Given the description of an element on the screen output the (x, y) to click on. 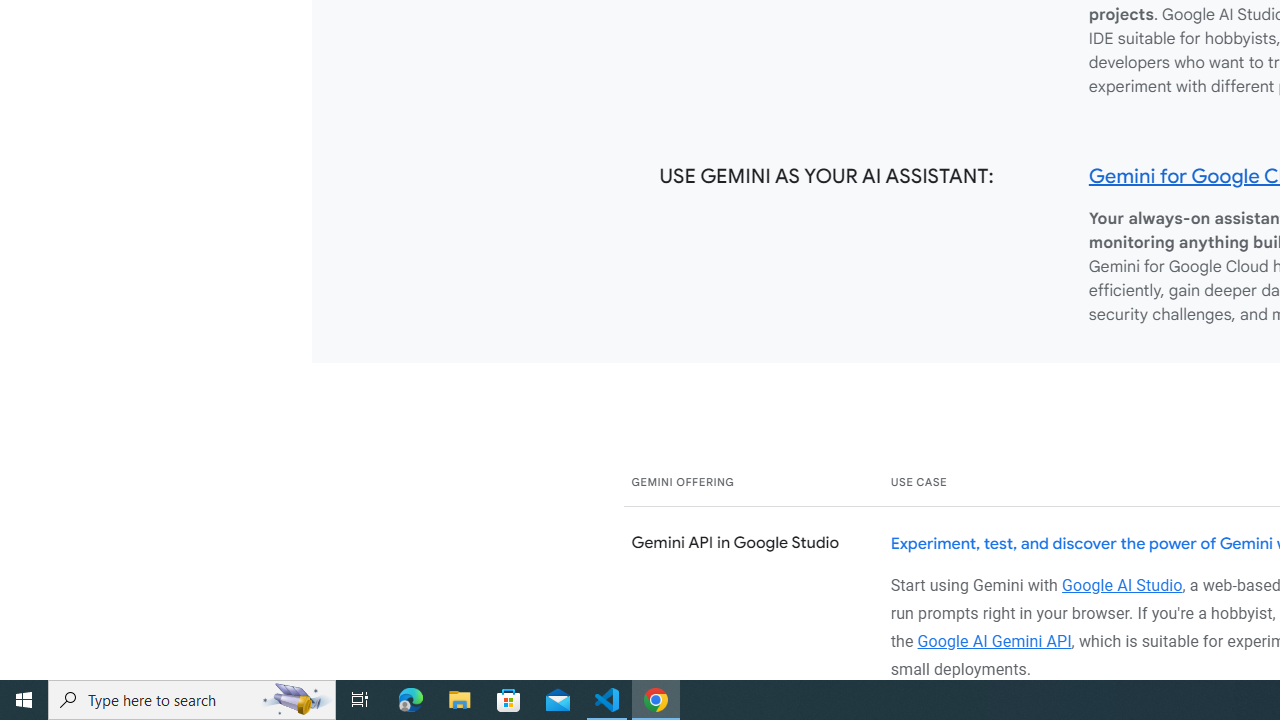
Google AI Studio (1122, 584)
Google AI Gemini API (994, 640)
